Given the description of an element on the screen output the (x, y) to click on. 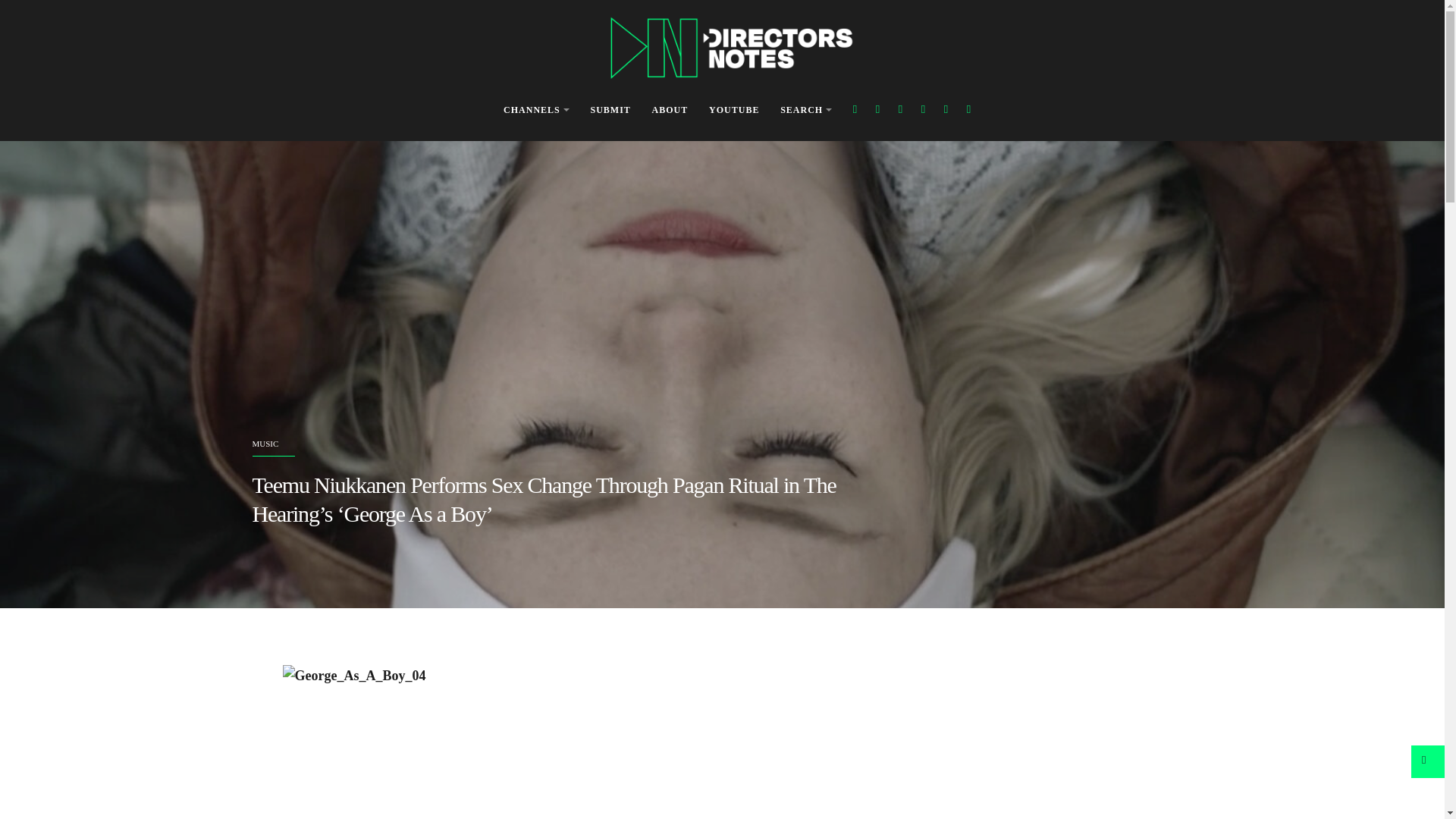
ABOUT (670, 110)
You Tube (923, 110)
CHANNELS (536, 110)
MUSIC (264, 442)
YOUTUBE (733, 110)
Facebook (855, 110)
Vimeo (945, 110)
Twitter (877, 110)
SEARCH (805, 110)
LinkedIn (968, 110)
SUBMIT (610, 110)
Instagram (900, 110)
